Given the description of an element on the screen output the (x, y) to click on. 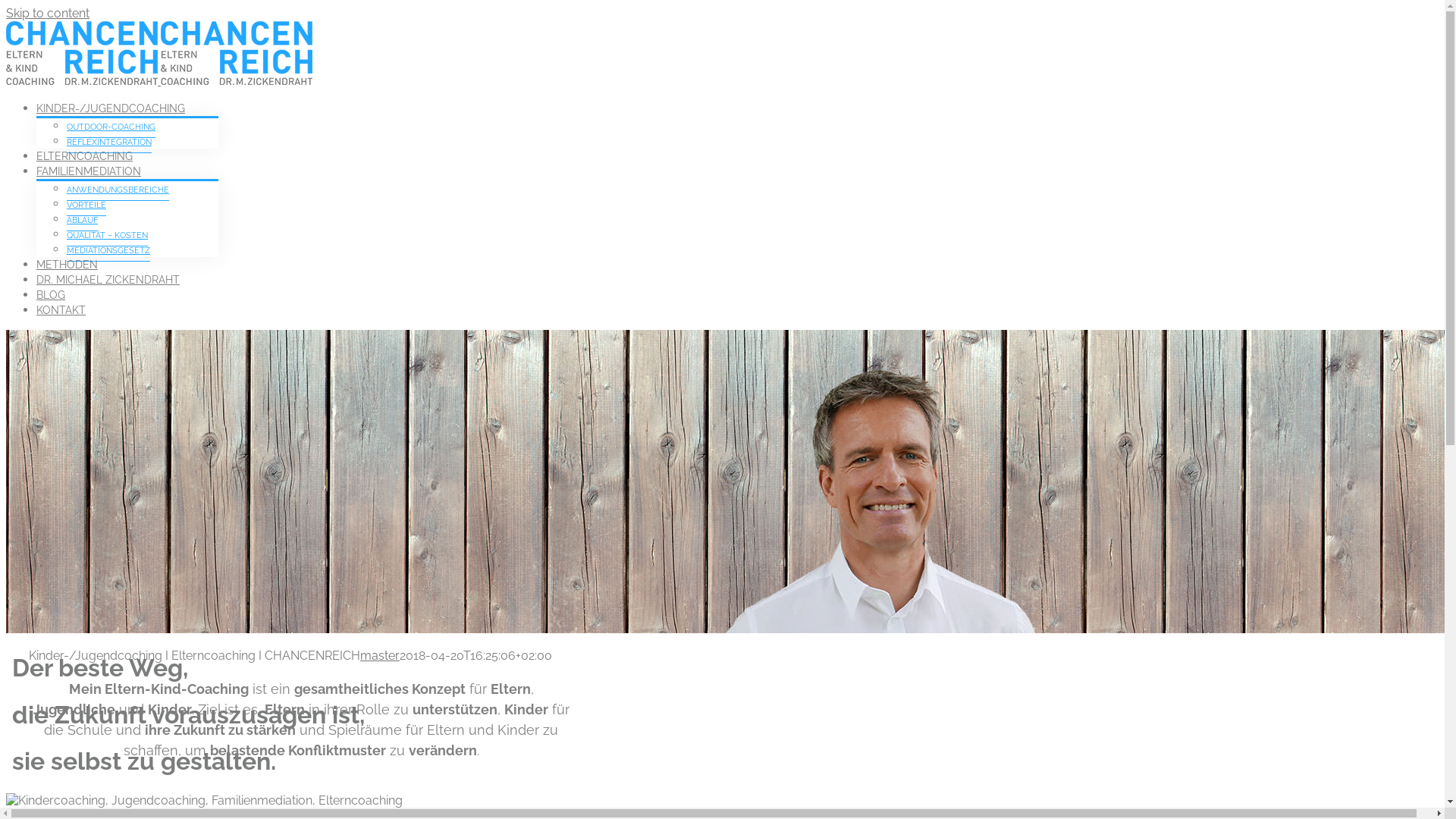
KONTAKT Element type: text (60, 308)
Skip to content Element type: text (47, 13)
master Element type: text (379, 655)
ANWENDUNGSBEREICHE Element type: text (117, 189)
VORTEILE Element type: text (86, 205)
FAMILIENMEDIATION Element type: text (88, 170)
METHODEN Element type: text (66, 263)
BLOG Element type: text (50, 293)
REFLEXINTEGRATION Element type: text (108, 142)
ELTERNCOACHING Element type: text (84, 154)
DR. MICHAEL ZICKENDRAHT Element type: text (107, 278)
MEDIATIONSGESETZ Element type: text (108, 250)
KINDER-/JUGENDCOACHING Element type: text (110, 107)
OUTDOOR-COACHING Element type: text (110, 127)
ABLAUF Element type: text (81, 220)
